Given the description of an element on the screen output the (x, y) to click on. 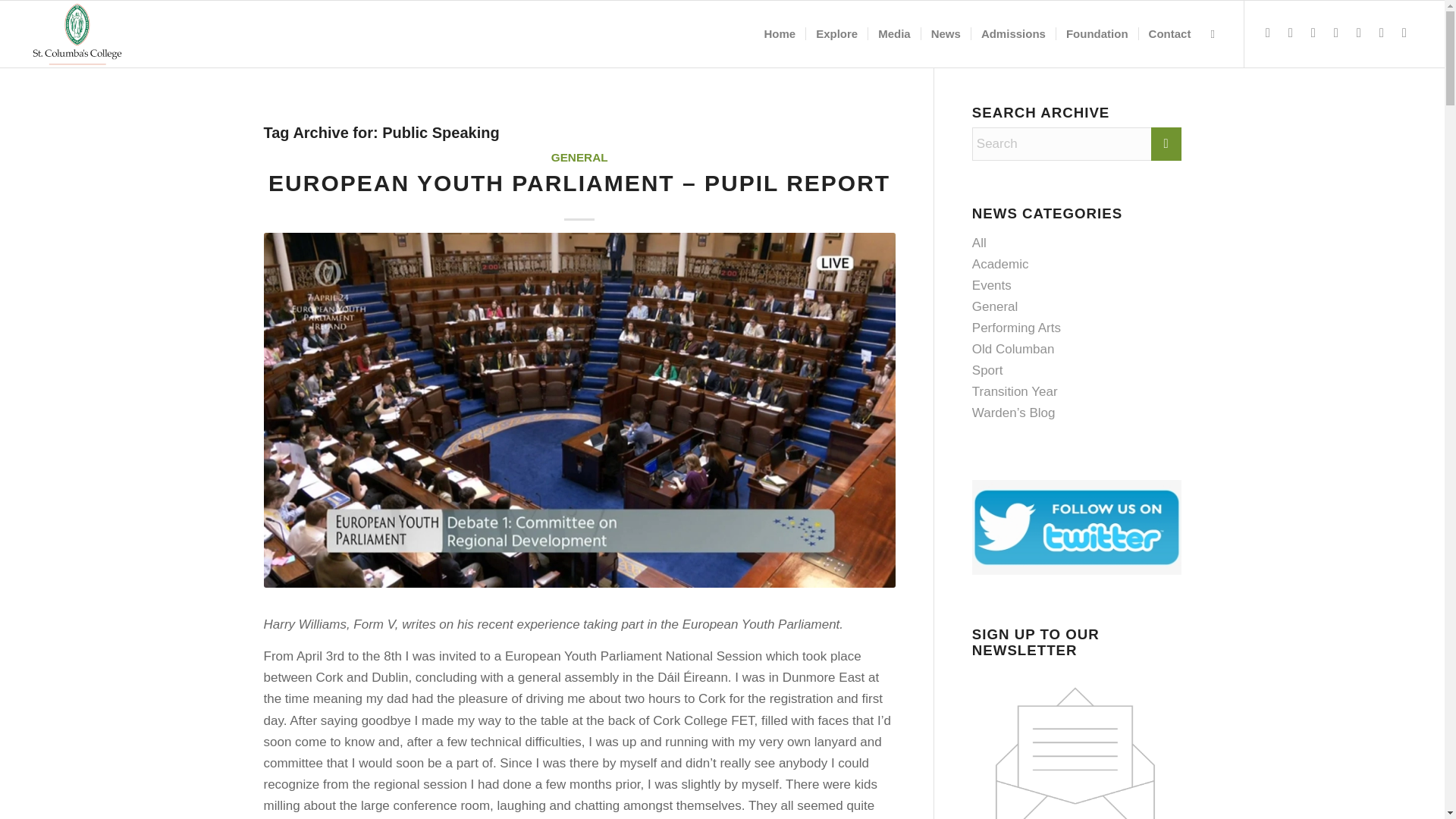
Flickr (1336, 33)
Explore (836, 33)
LinkedIn (1381, 33)
Instagram (1312, 33)
Facebook (1290, 33)
Vimeo (1359, 33)
Mail (1404, 33)
X (1267, 33)
weblogo (77, 33)
